Given the description of an element on the screen output the (x, y) to click on. 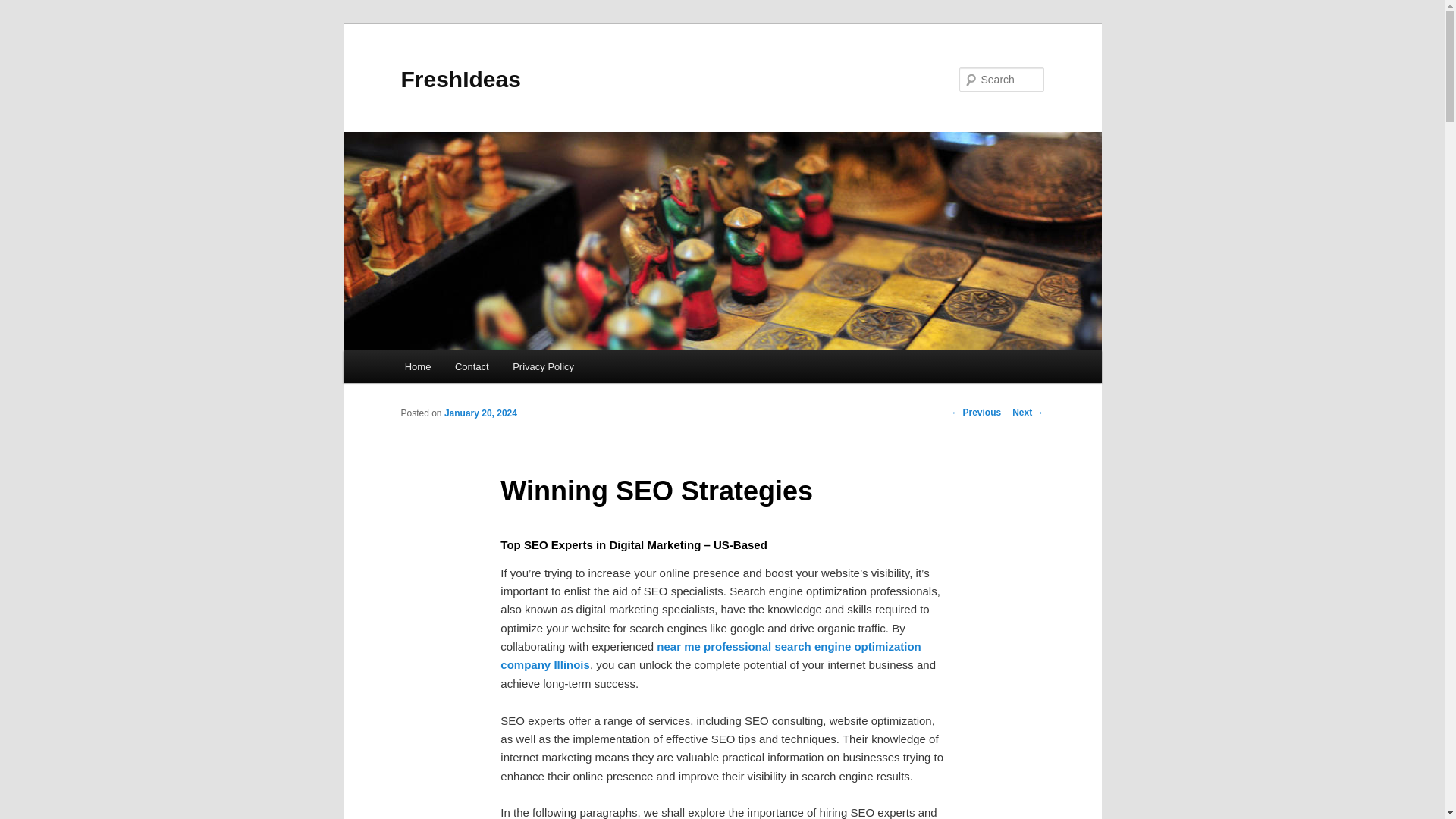
7:50 pm (480, 412)
Home (417, 366)
Search (24, 8)
FreshIdeas (459, 78)
Contact (471, 366)
January 20, 2024 (480, 412)
Privacy Policy (542, 366)
